Given the description of an element on the screen output the (x, y) to click on. 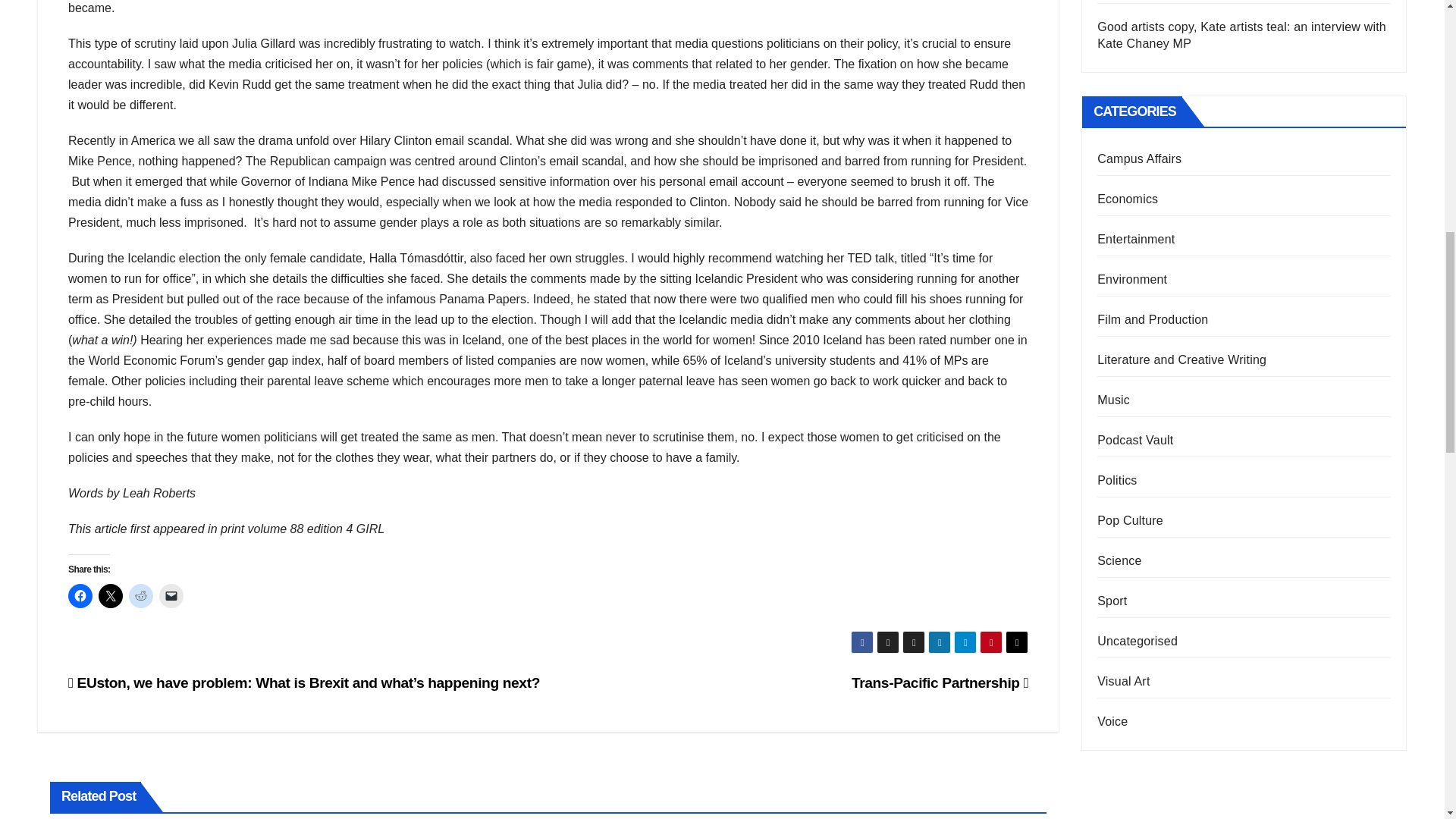
Trans-Pacific Partnership (939, 682)
Click to share on Reddit (140, 595)
Click to email a link to a friend (170, 595)
Click to share on X (110, 595)
Click to share on Facebook (80, 595)
